Given the description of an element on the screen output the (x, y) to click on. 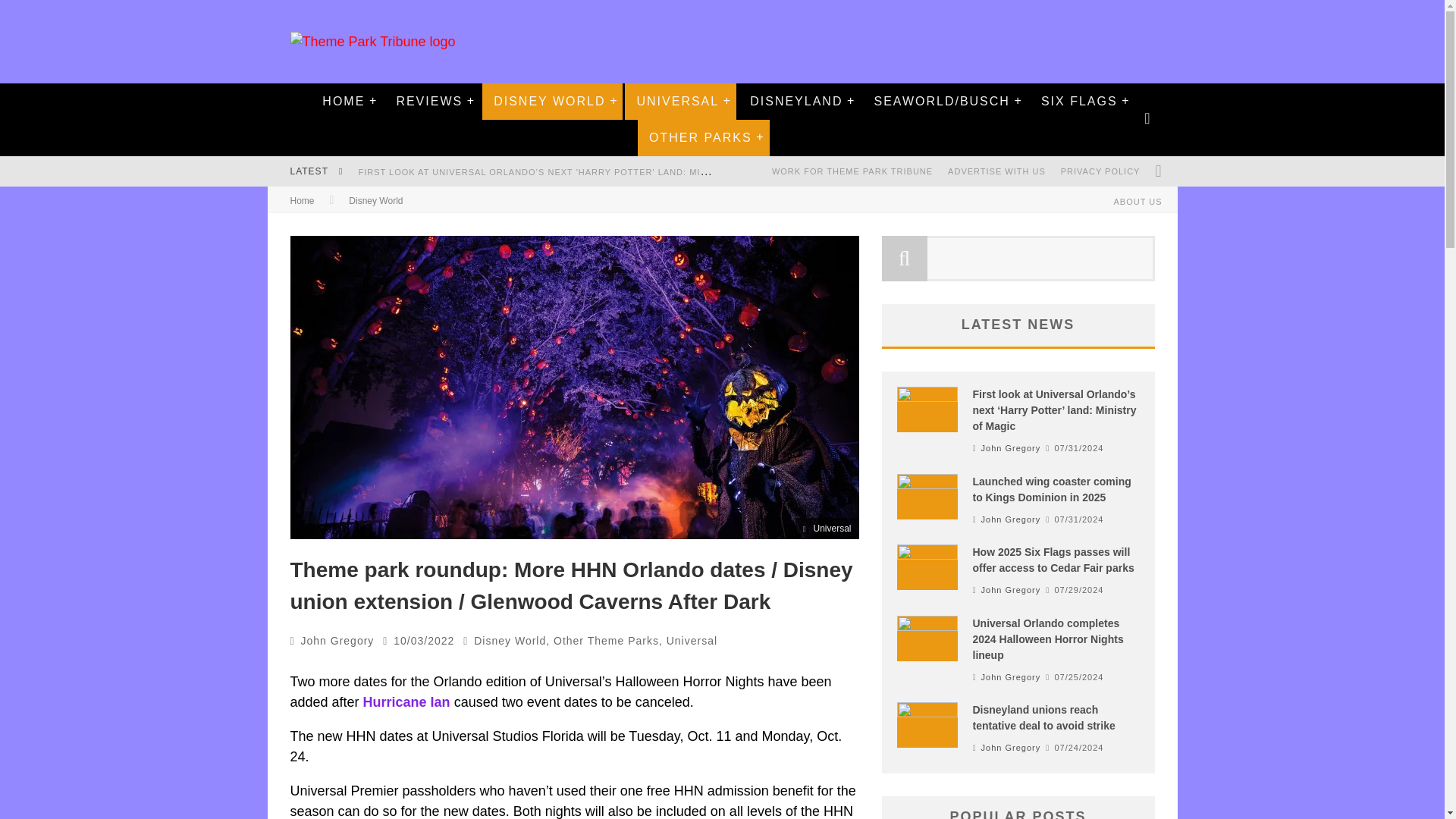
DISNEYLAND (795, 101)
HOME (343, 101)
UNIVERSAL (677, 101)
Disney World (510, 640)
View all posts in Disney World (376, 200)
View all posts in Other Theme Parks (606, 640)
OTHER PARKS (699, 137)
Other Theme Parks (606, 640)
Disney World (376, 200)
View all posts in Universal (691, 640)
